Given the description of an element on the screen output the (x, y) to click on. 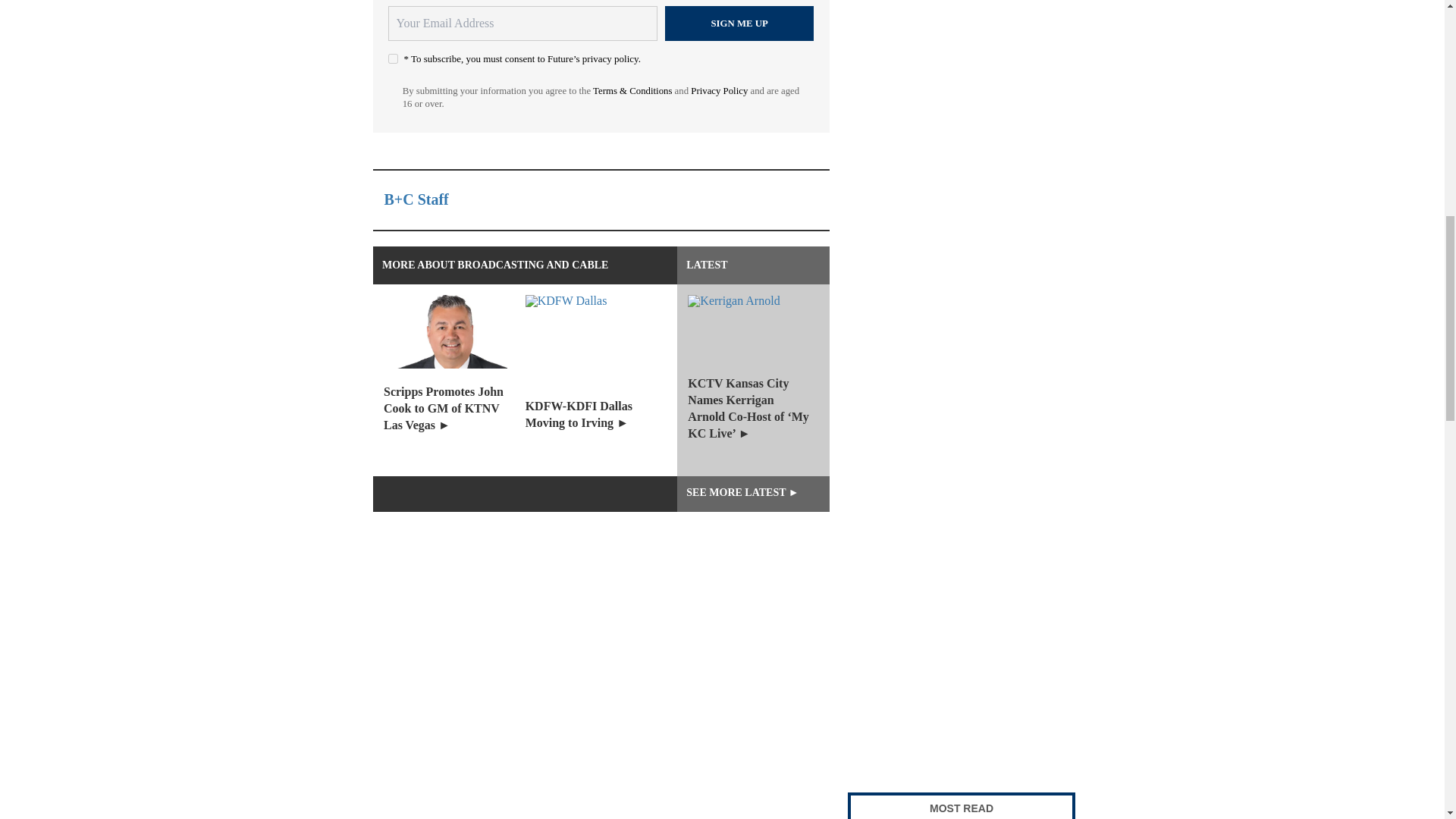
Sign me up (739, 22)
Privacy Policy (719, 90)
on (392, 58)
Sign me up (739, 22)
